Given the description of an element on the screen output the (x, y) to click on. 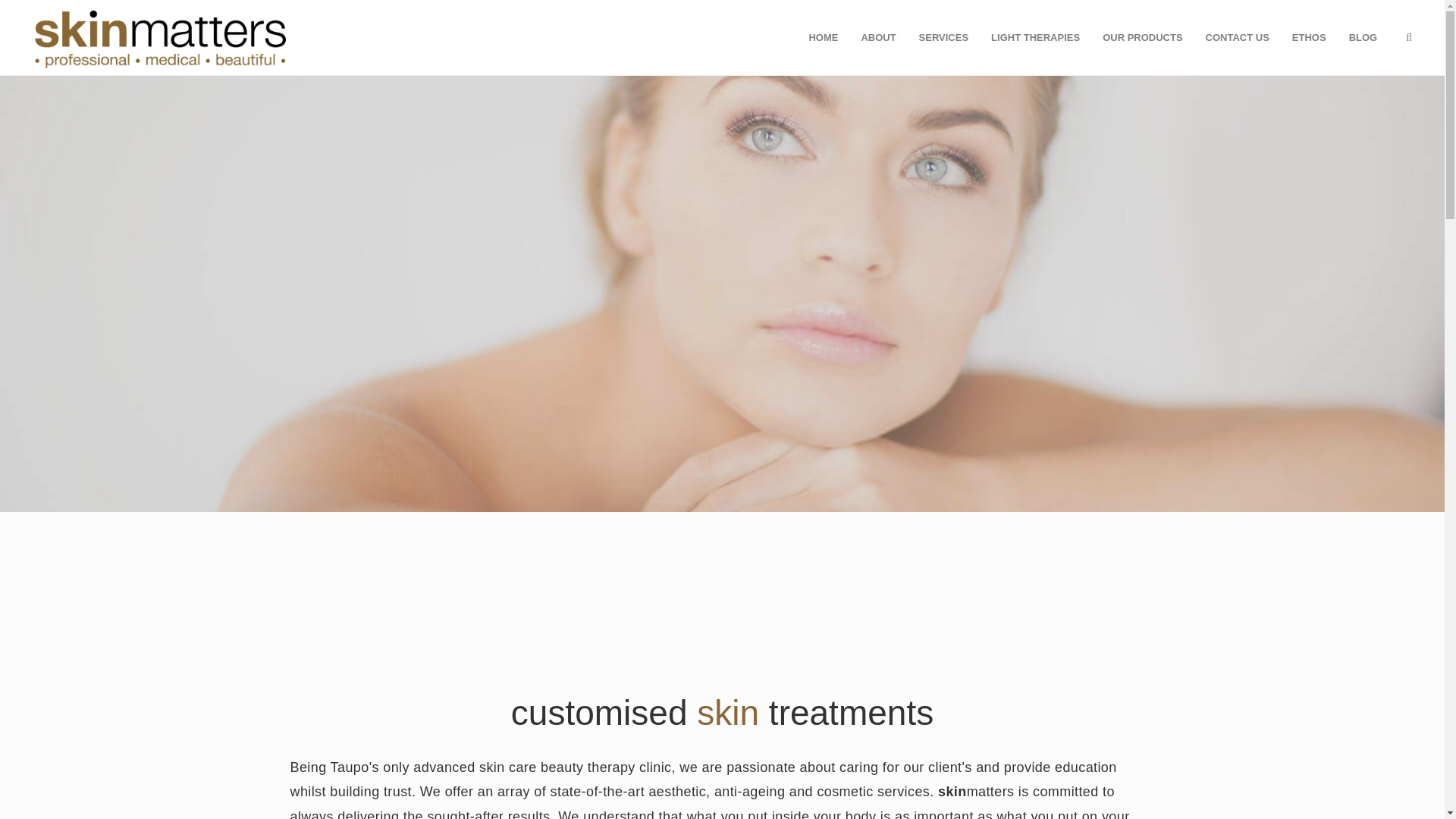
LIGHT THERAPIES (1034, 38)
SERVICES (943, 38)
CONTACT US (1237, 38)
OUR PRODUCTS (1141, 38)
